Given the description of an element on the screen output the (x, y) to click on. 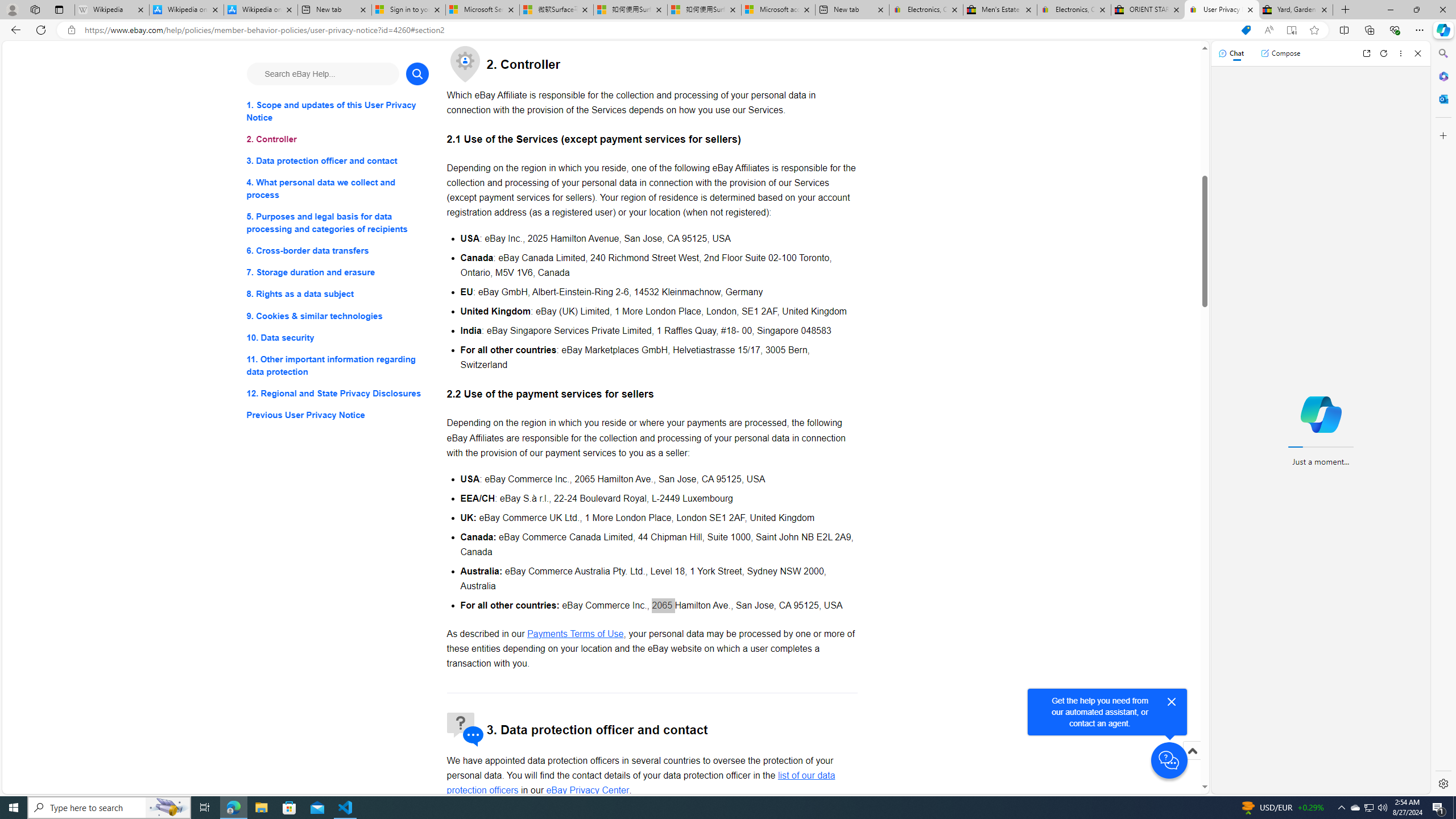
2. Controller (337, 138)
12. Regional and State Privacy Disclosures (337, 392)
Previous User Privacy Notice (337, 414)
Scroll to top (1191, 762)
11. Other important information regarding data protection (337, 365)
8. Rights as a data subject (337, 293)
